Given the description of an element on the screen output the (x, y) to click on. 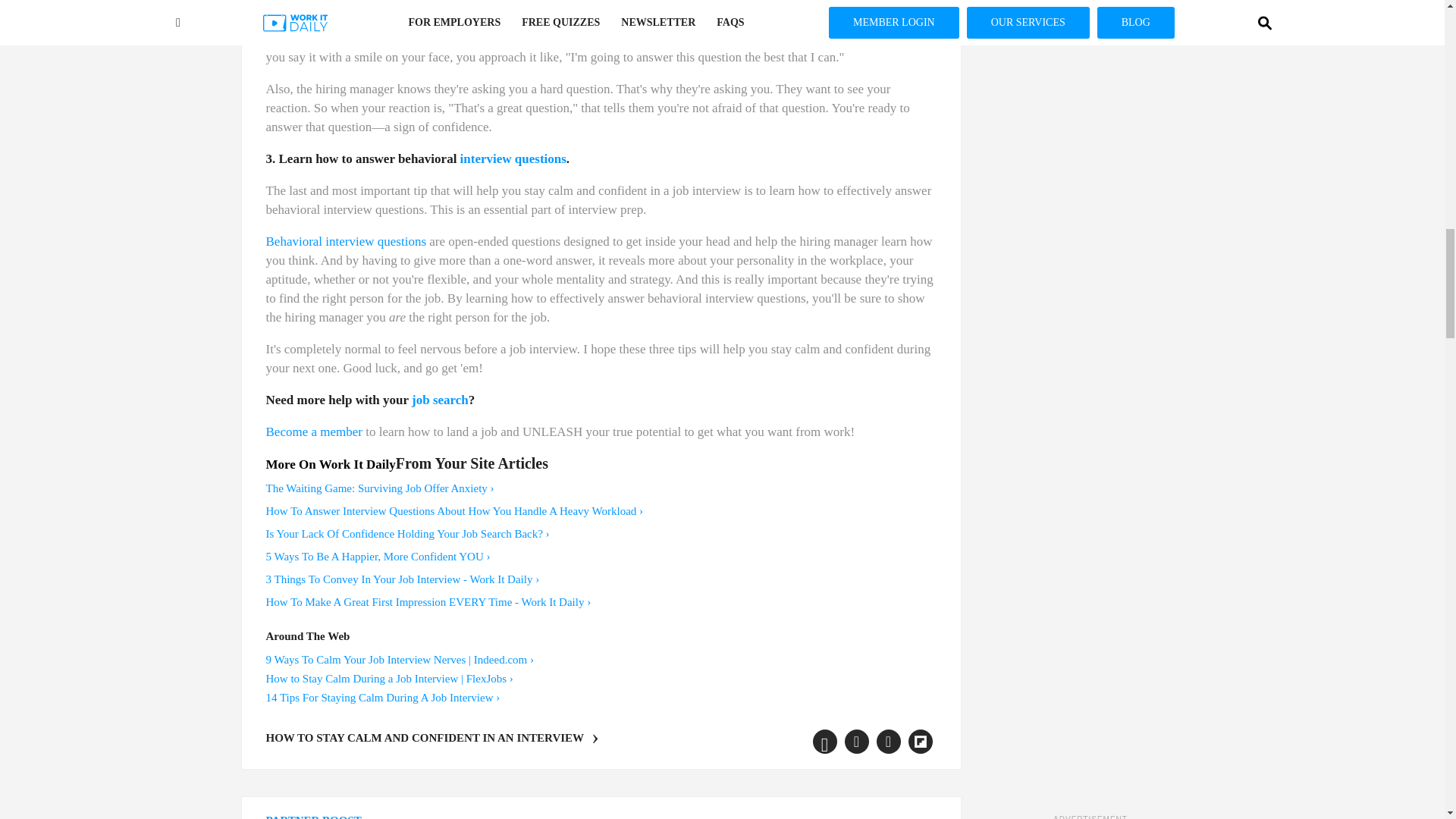
Behavioral interview questions (345, 241)
interview questions (513, 158)
job search (440, 400)
Become a member (312, 431)
difficult questions (509, 19)
